Given the description of an element on the screen output the (x, y) to click on. 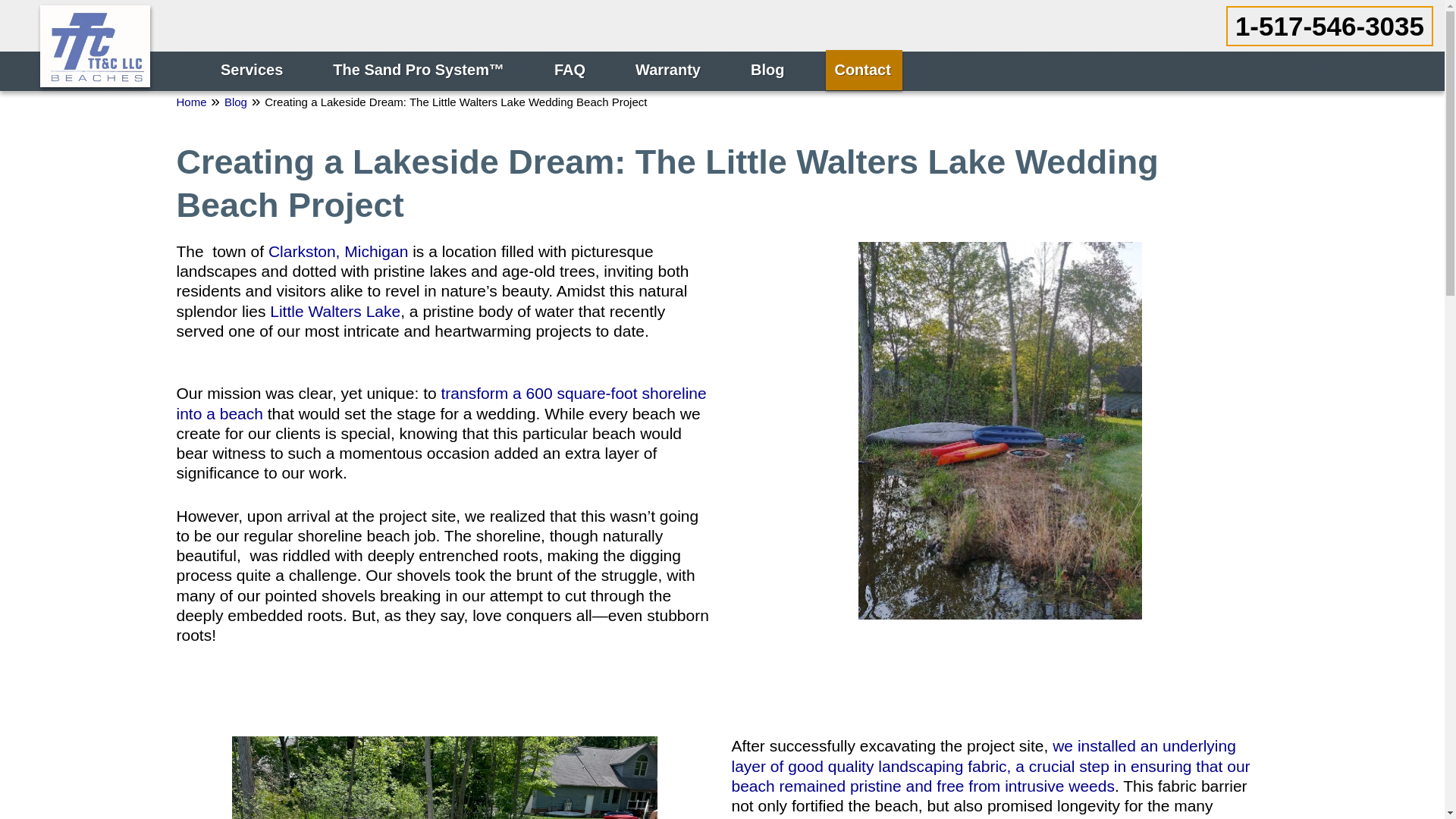
Little Walters Lake (334, 310)
Blog (235, 101)
FAQ (571, 69)
1-517-546-3035 (1328, 25)
Blog (768, 69)
Warranty (669, 69)
Clarkston, Michigan (337, 251)
transform a 600 square-foot shoreline into a beach (441, 402)
Services (253, 69)
Contact (863, 69)
Home (191, 101)
